Given the description of an element on the screen output the (x, y) to click on. 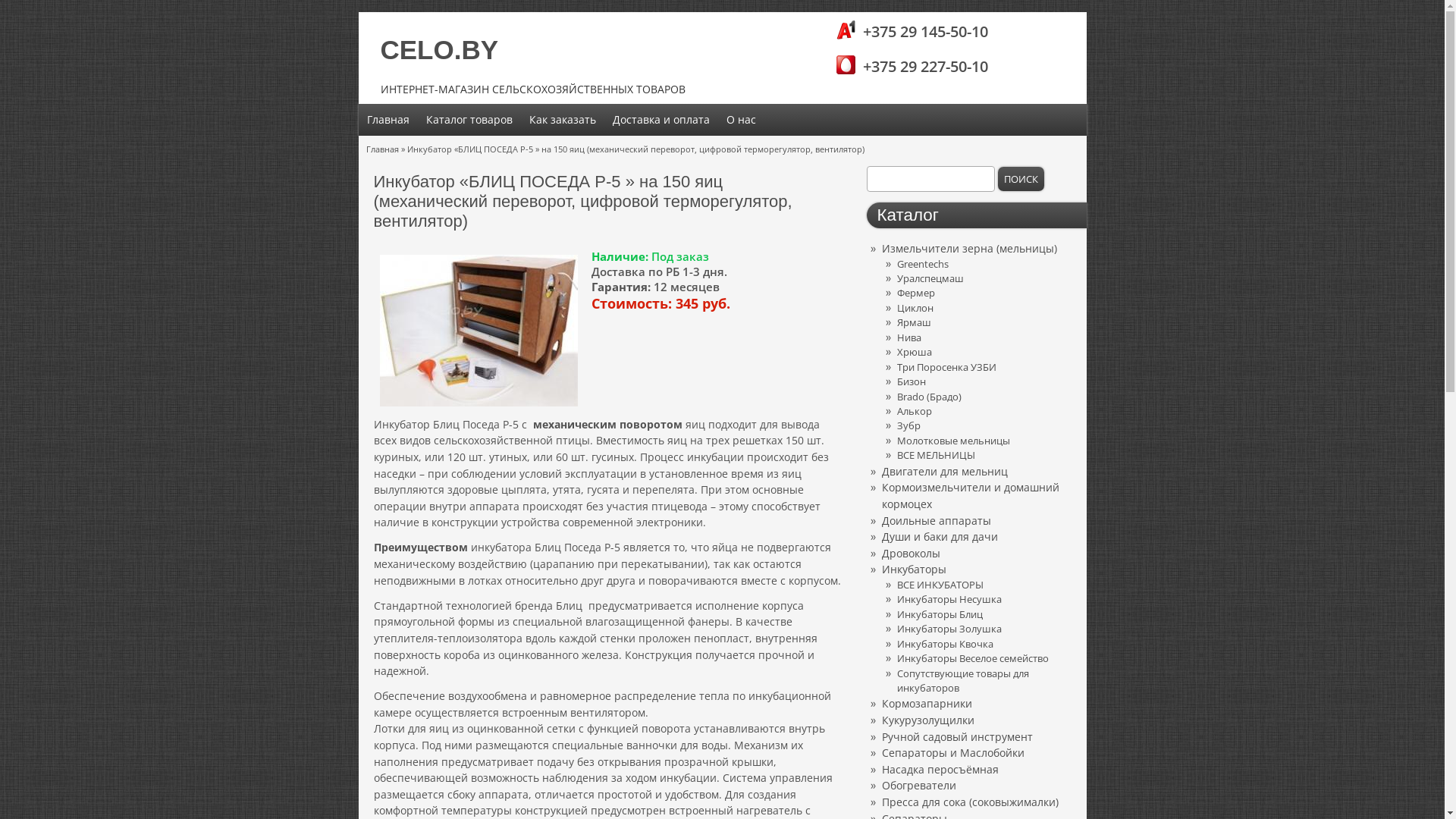
+375 29 227-50-10 Element type: text (914, 66)
+375 29 145-50-10 Element type: text (914, 31)
CELO.BY Element type: text (439, 49)
Greentechs Element type: text (921, 263)
